Given the description of an element on the screen output the (x, y) to click on. 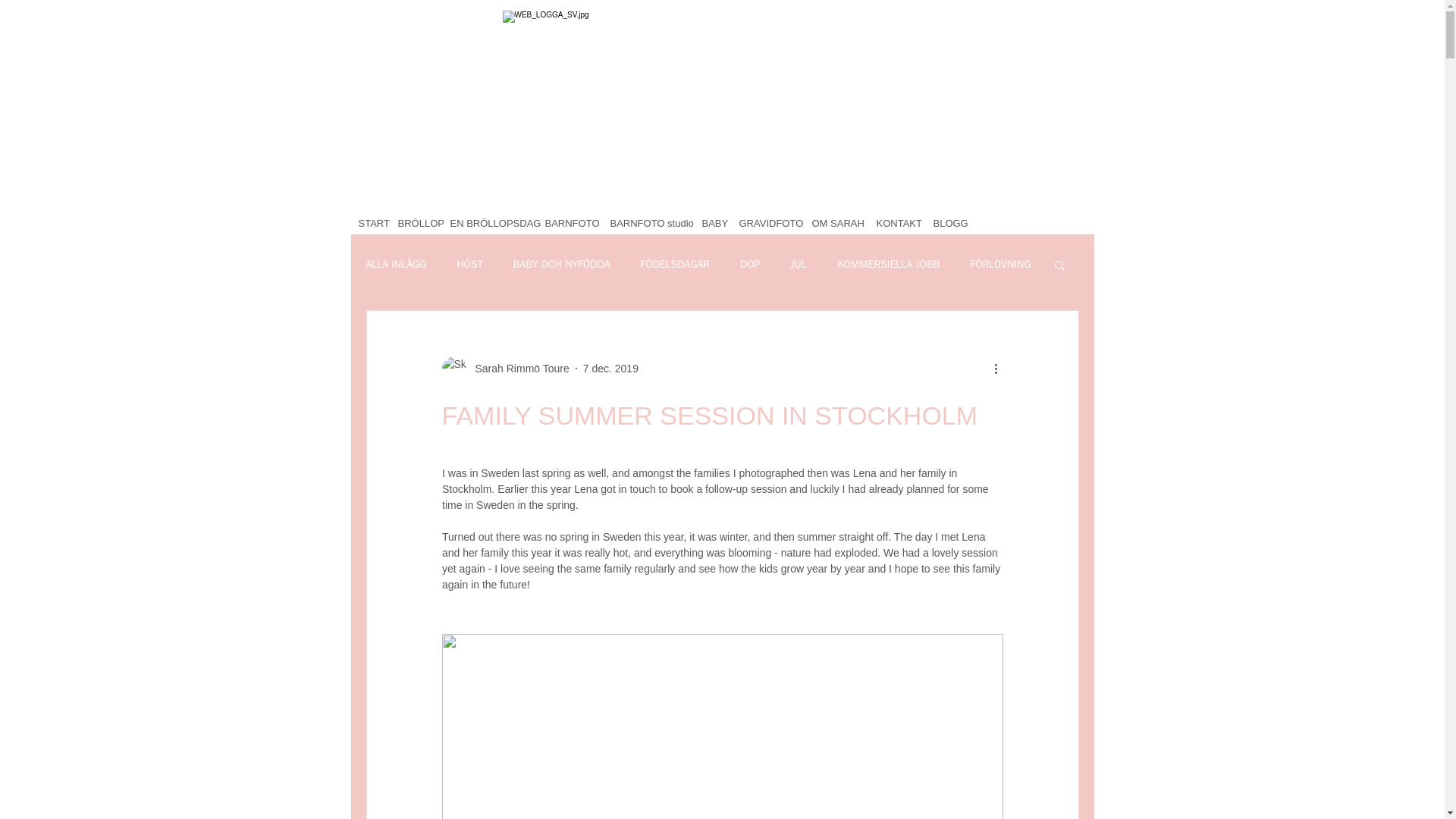
KOMMERSIELLA JOBB (888, 264)
7 dec. 2019 (611, 368)
JUL (798, 264)
DOP (749, 264)
